Given the description of an element on the screen output the (x, y) to click on. 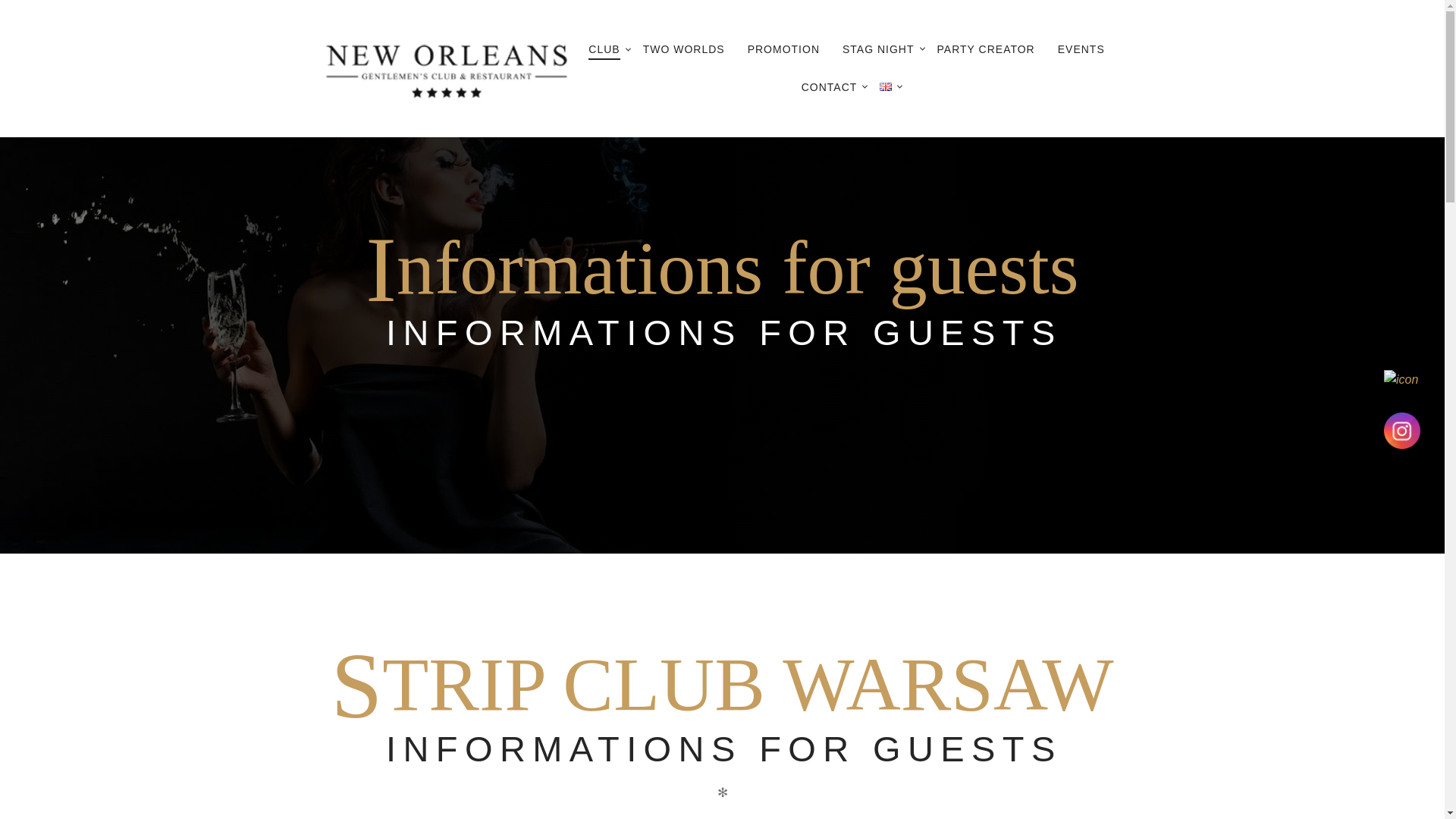
PARTY CREATOR (986, 49)
TWO WORLDS (683, 49)
CLUB (603, 49)
STAG NIGHT (878, 49)
Instagram (1402, 430)
New Orleans Night Club (445, 68)
CONTACT (829, 86)
PROMOTION (783, 49)
EVENTS (1081, 49)
Facebook (1402, 388)
